Given the description of an element on the screen output the (x, y) to click on. 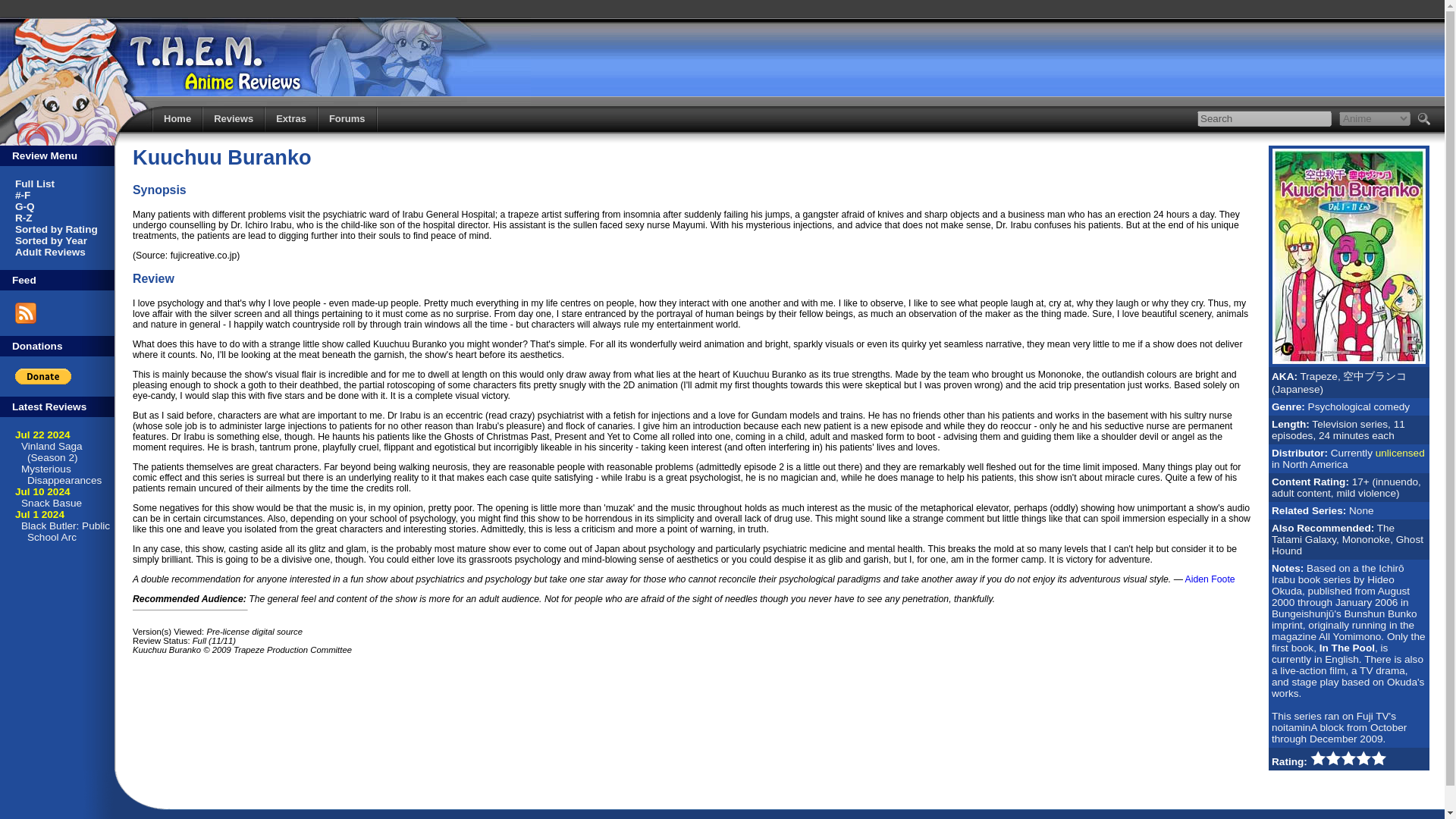
G-Q (24, 206)
Snack Basue (51, 502)
Sorted by Year (50, 240)
Mysterious Disappearances (61, 474)
R-Z (23, 217)
unlicensed (1400, 452)
Black Butler: Public School Arc (65, 531)
Forums (347, 118)
Full List (34, 183)
Aiden Foote (1209, 579)
Adult Reviews (49, 251)
Reviews (233, 118)
Search (1264, 118)
Extras (290, 118)
Sorted by Rating (55, 229)
